Given the description of an element on the screen output the (x, y) to click on. 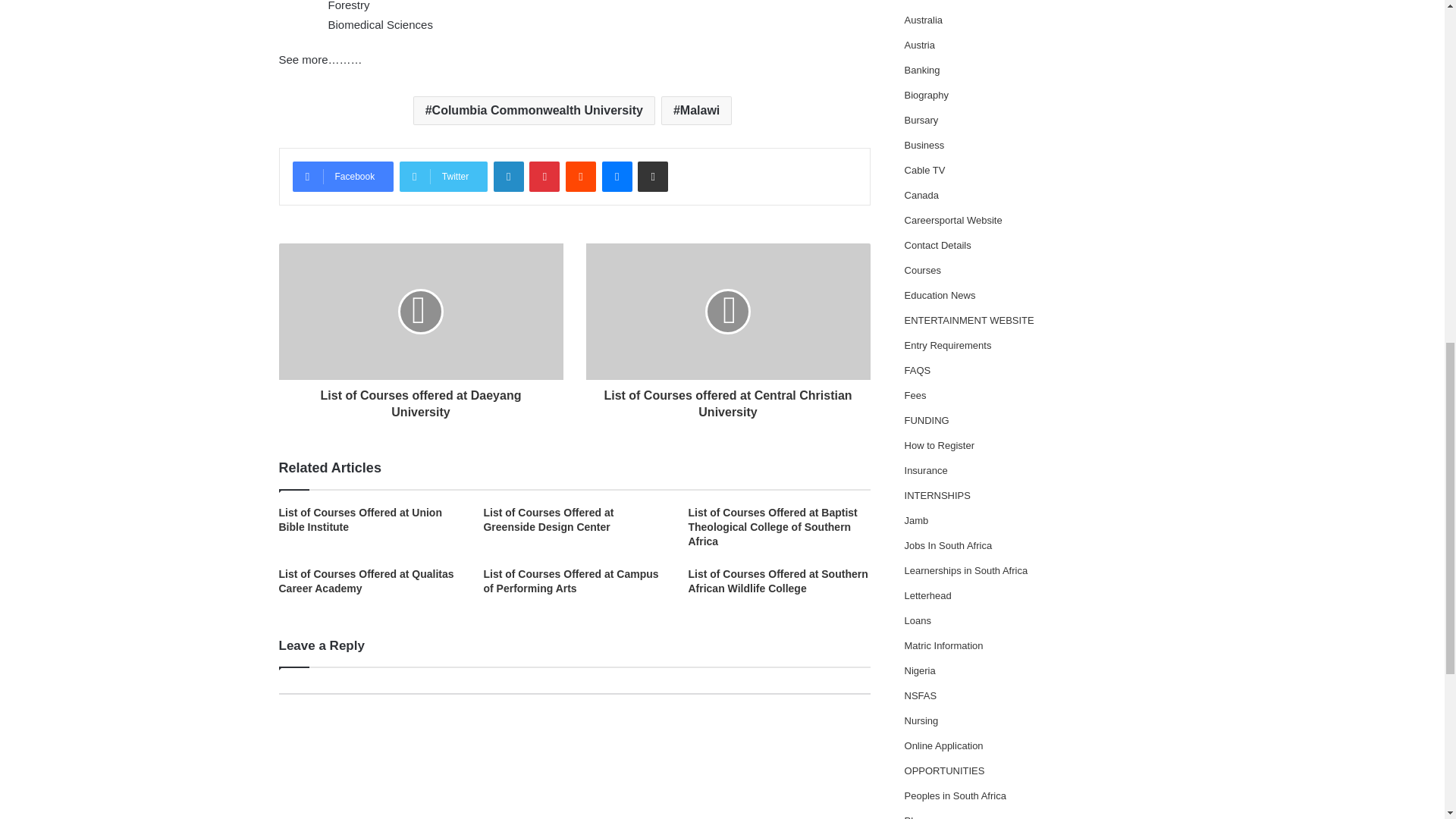
List of Courses Offered at Union Bible Institute (360, 519)
List of Courses offered at Central Christian University (727, 400)
Pinterest (544, 176)
Twitter (442, 176)
Pinterest (544, 176)
Messenger (616, 176)
List of Courses Offered at Greenside Design Center (547, 519)
Facebook (343, 176)
Reddit (580, 176)
List of Courses Offered at Qualitas Career Academy (366, 581)
Columbia Commonwealth University (534, 110)
LinkedIn (508, 176)
List of Courses Offered at Campus of Performing Arts (570, 581)
Share via Email (652, 176)
